Given the description of an element on the screen output the (x, y) to click on. 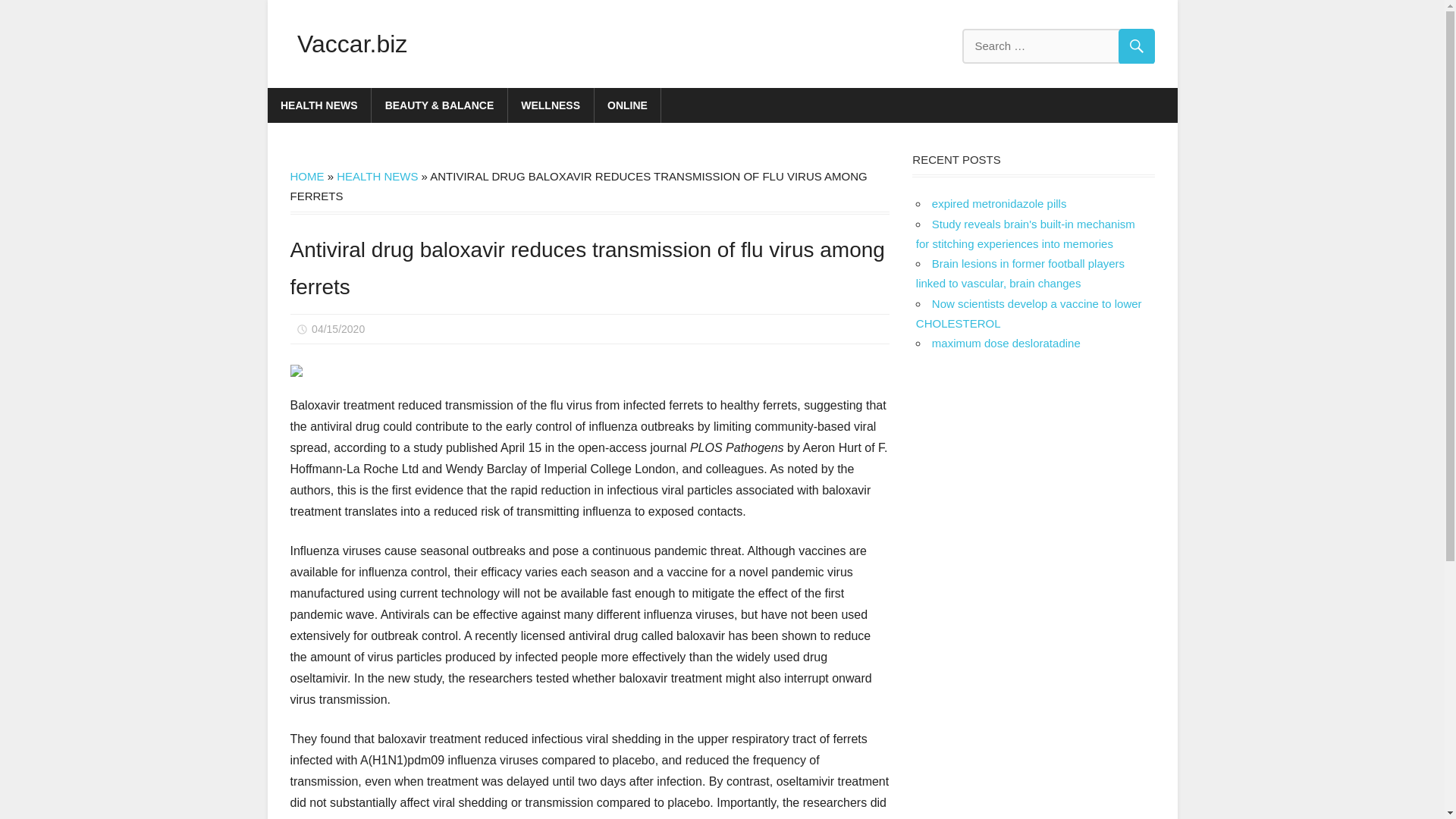
Now scientists develop a vaccine to lower CHOLESTEROL (1028, 313)
HEALTH NEWS (376, 175)
WELLNESS (551, 104)
7:25 pm (338, 328)
ONLINE (628, 104)
expired metronidazole pills (999, 203)
HEALTH NEWS (318, 104)
maximum dose desloratadine (1005, 342)
Vaccar.biz (352, 43)
HOME (306, 175)
Search for: (1057, 46)
